Given the description of an element on the screen output the (x, y) to click on. 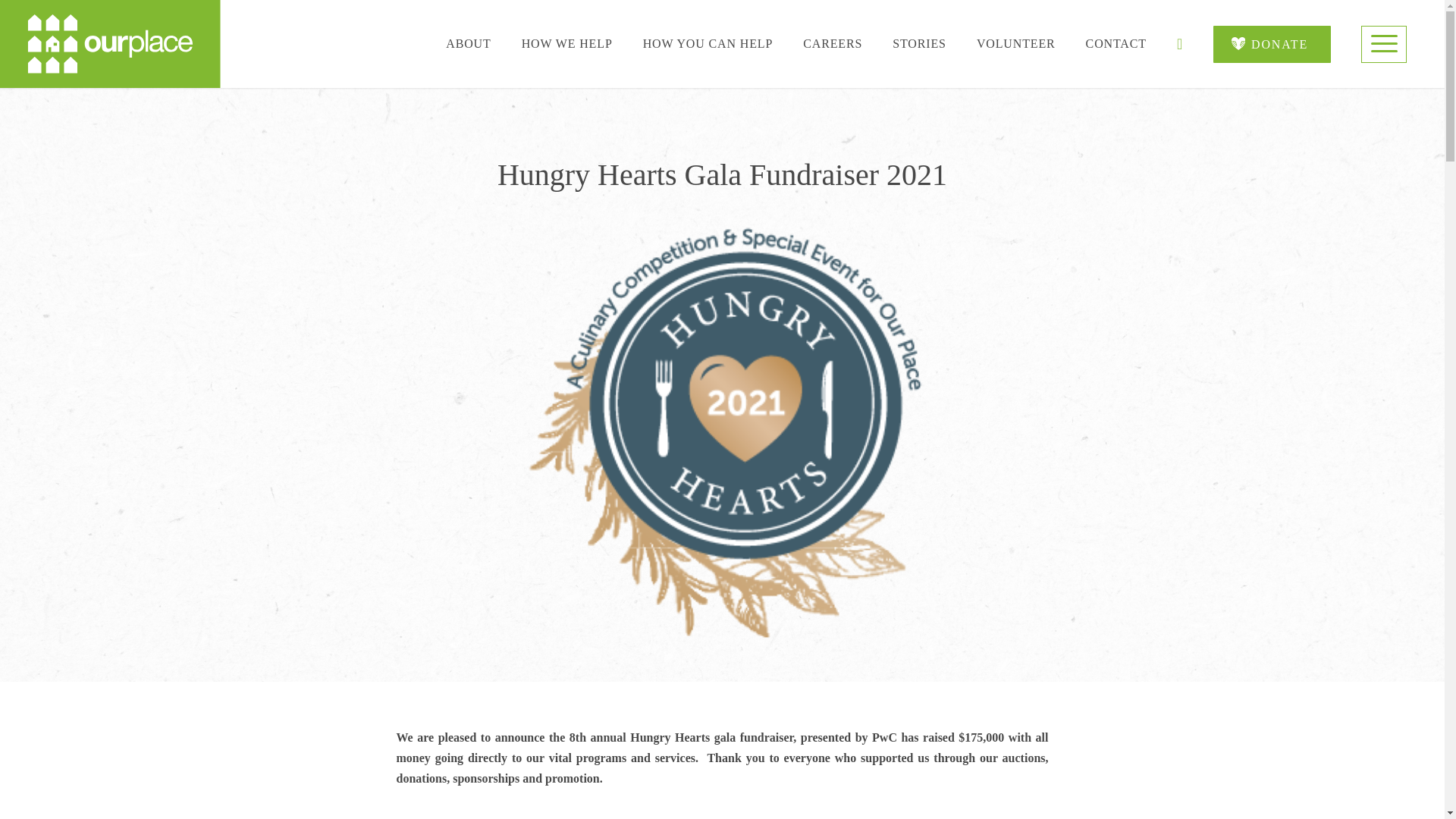
CONTACT (1116, 42)
VOLUNTEER (1015, 42)
our-place-logo-green-bg (109, 43)
HOW WE HELP (566, 42)
our-place-logo-green-bg (110, 43)
CAREERS (832, 42)
DONATE (1271, 44)
ABOUT (467, 42)
STORIES (919, 42)
HOW YOU CAN HELP (708, 42)
